Given the description of an element on the screen output the (x, y) to click on. 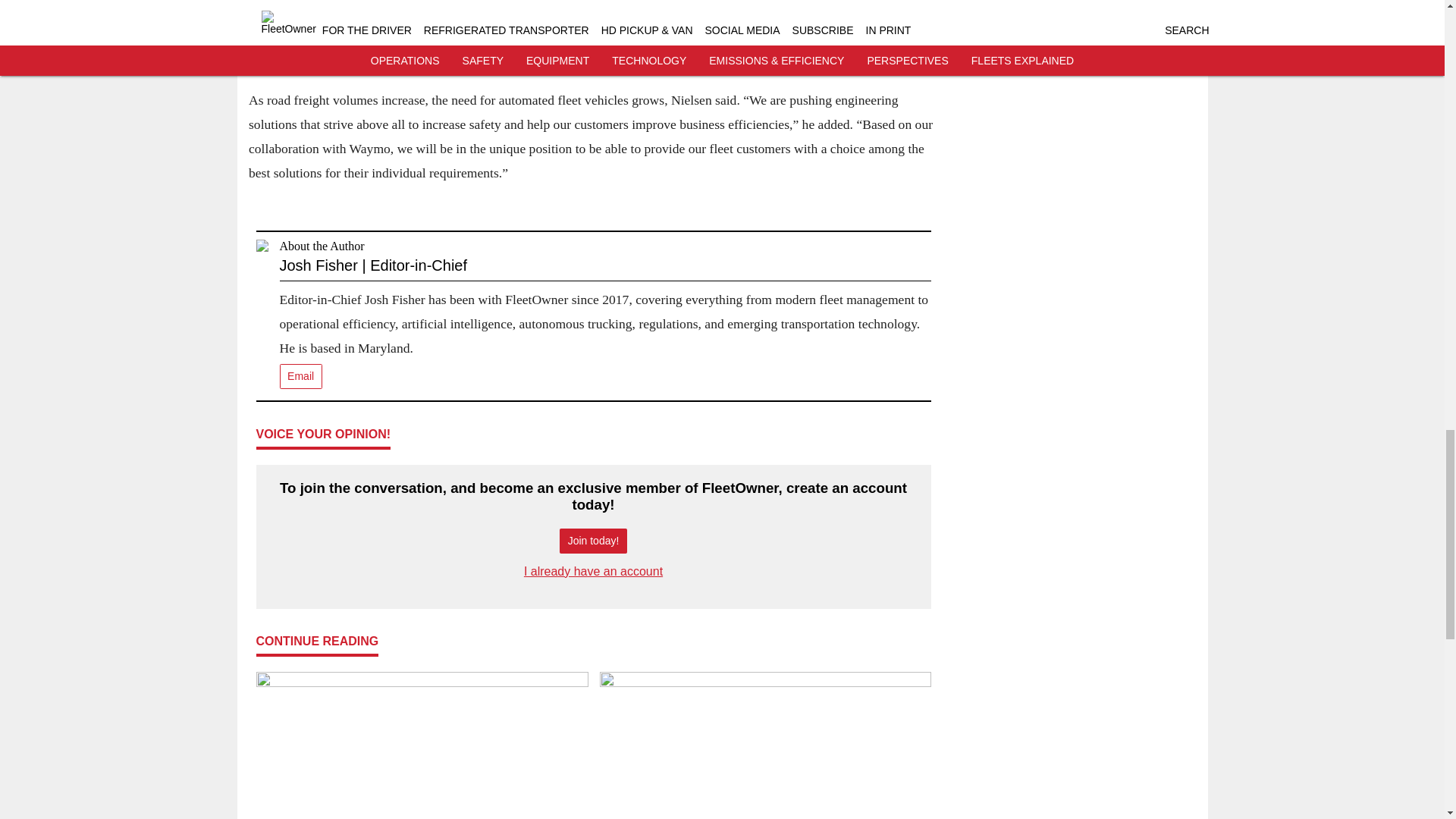
Join today! (593, 540)
I already have an account (593, 571)
Email (300, 376)
